Given the description of an element on the screen output the (x, y) to click on. 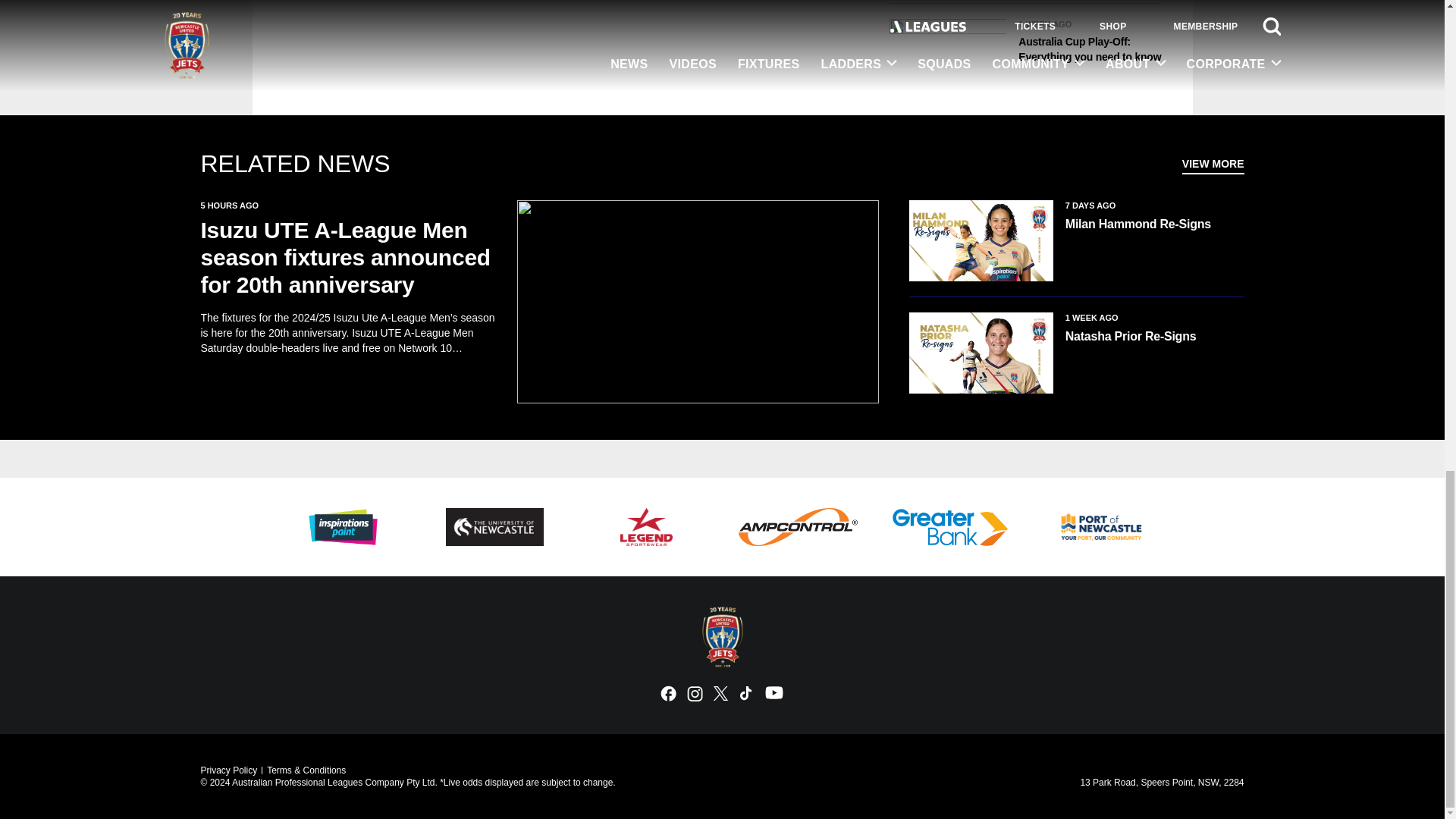
Port of Newcastle (1101, 526)
AMP Control (797, 526)
Inspirations Paint (342, 526)
Greater Bank (949, 526)
University of Newcastle (493, 526)
Legend (645, 526)
